Given the description of an element on the screen output the (x, y) to click on. 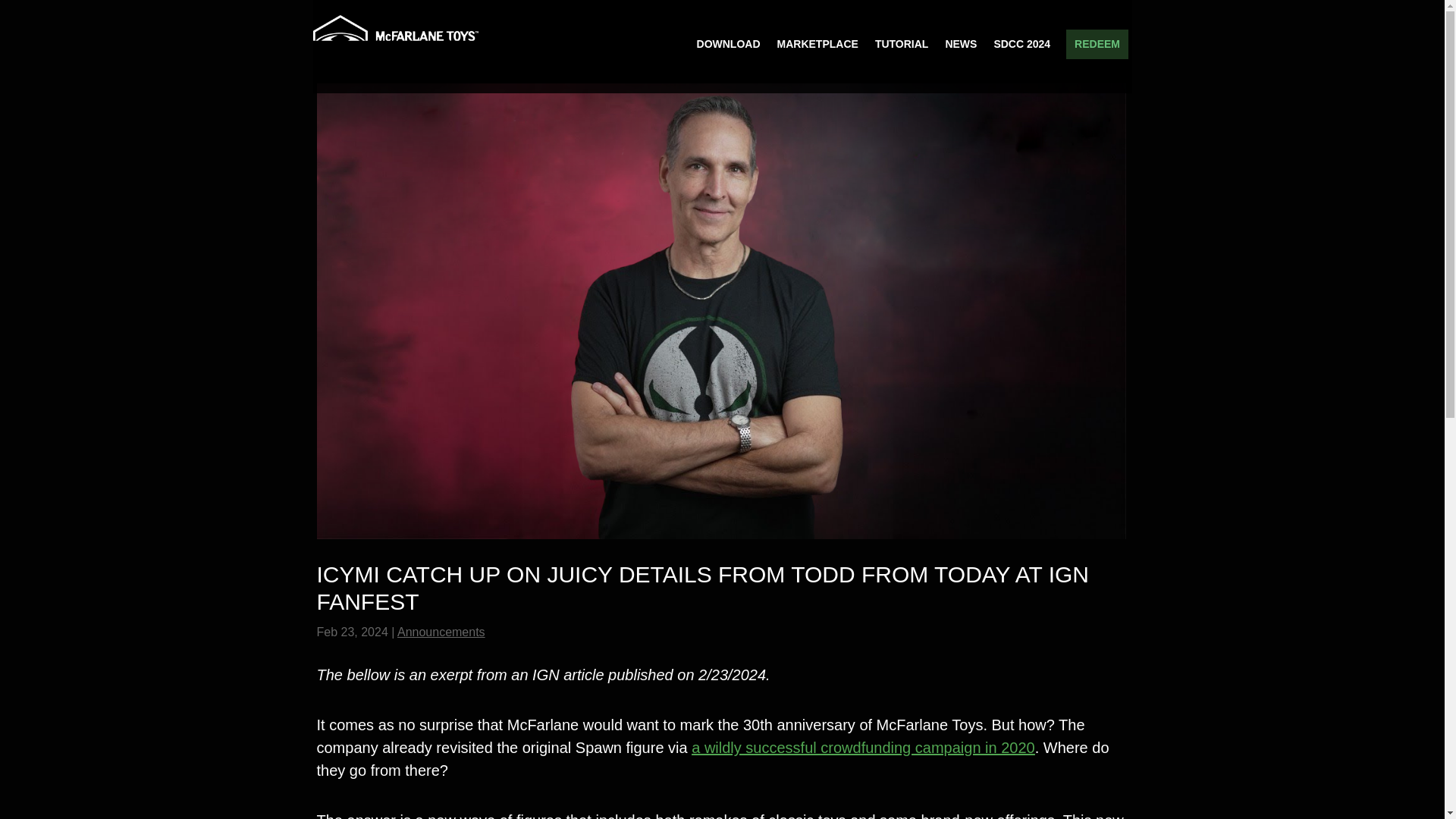
SDCC 2024 (1020, 52)
Announcements (440, 631)
a wildly successful crowdfunding campaign in 2020 (862, 747)
connect-wallet (1096, 46)
TUTORIAL (901, 52)
MARKETPLACE (816, 52)
NEWS (960, 52)
DOWNLOAD (727, 52)
REDEEM (1096, 46)
